Given the description of an element on the screen output the (x, y) to click on. 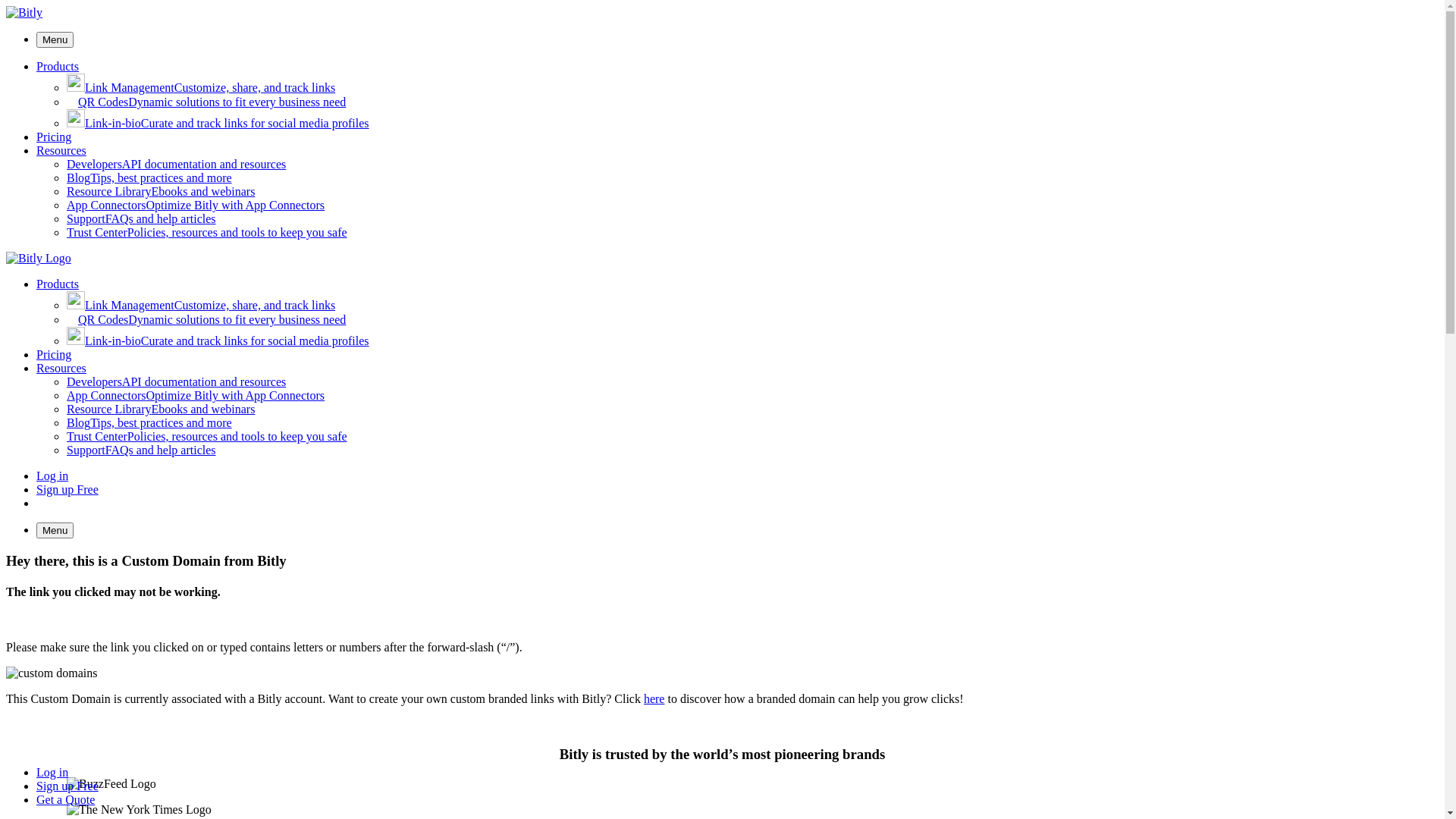
Menu Element type: text (54, 530)
Get a Quote Element type: text (77, 502)
BlogTips, best practices and more Element type: text (149, 422)
Get a Quote Element type: text (65, 799)
QR CodesDynamic solutions to fit every business need Element type: text (205, 101)
Resources Element type: text (61, 150)
Log in Element type: text (52, 475)
Link ManagementCustomize, share, and track links Element type: text (200, 304)
App ConnectorsOptimize Bitly with App Connectors Element type: text (195, 395)
Menu Element type: text (54, 39)
Trust CenterPolicies, resources and tools to keep you safe Element type: text (206, 231)
BlogTips, best practices and more Element type: text (149, 177)
Sign up Free Element type: text (67, 785)
SupportFAQs and help articles Element type: text (141, 449)
Products Element type: text (57, 65)
Resource LibraryEbooks and webinars Element type: text (160, 408)
Pricing Element type: text (53, 354)
Resource LibraryEbooks and webinars Element type: text (160, 191)
Trust CenterPolicies, resources and tools to keep you safe Element type: text (206, 435)
DevelopersAPI documentation and resources Element type: text (175, 163)
Sign up Free Element type: text (67, 489)
Log in Element type: text (52, 771)
DevelopersAPI documentation and resources Element type: text (175, 381)
Link-in-bioCurate and track links for social media profiles Element type: text (217, 122)
Link-in-bioCurate and track links for social media profiles Element type: text (217, 340)
Link ManagementCustomize, share, and track links Element type: text (200, 87)
App ConnectorsOptimize Bitly with App Connectors Element type: text (195, 204)
Resources Element type: text (61, 367)
SupportFAQs and help articles Element type: text (141, 218)
Pricing Element type: text (53, 136)
QR CodesDynamic solutions to fit every business need Element type: text (205, 319)
Products Element type: text (57, 283)
here Element type: text (654, 698)
